Given the description of an element on the screen output the (x, y) to click on. 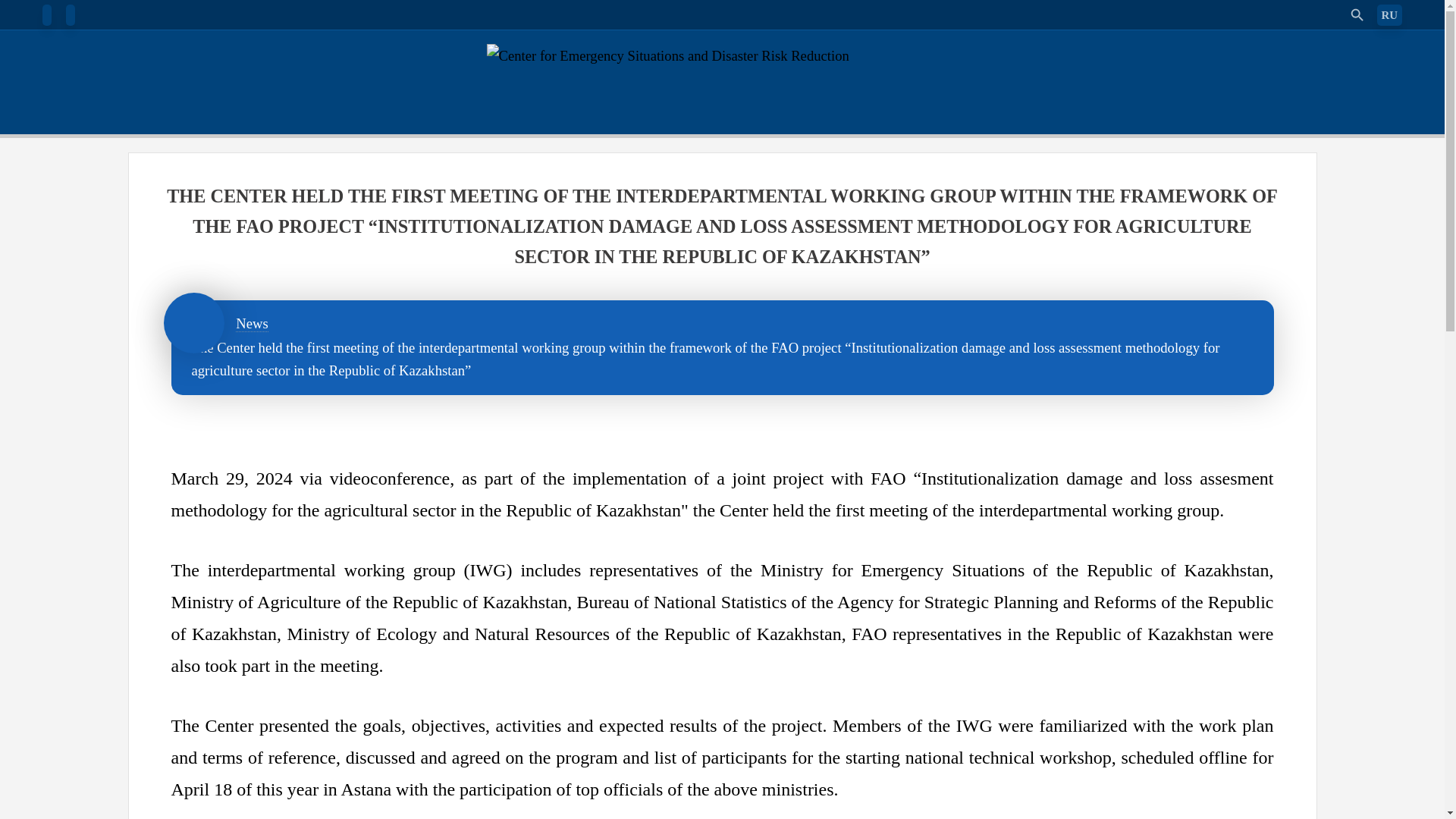
RU (1390, 14)
News (251, 323)
Main (193, 322)
